Given the description of an element on the screen output the (x, y) to click on. 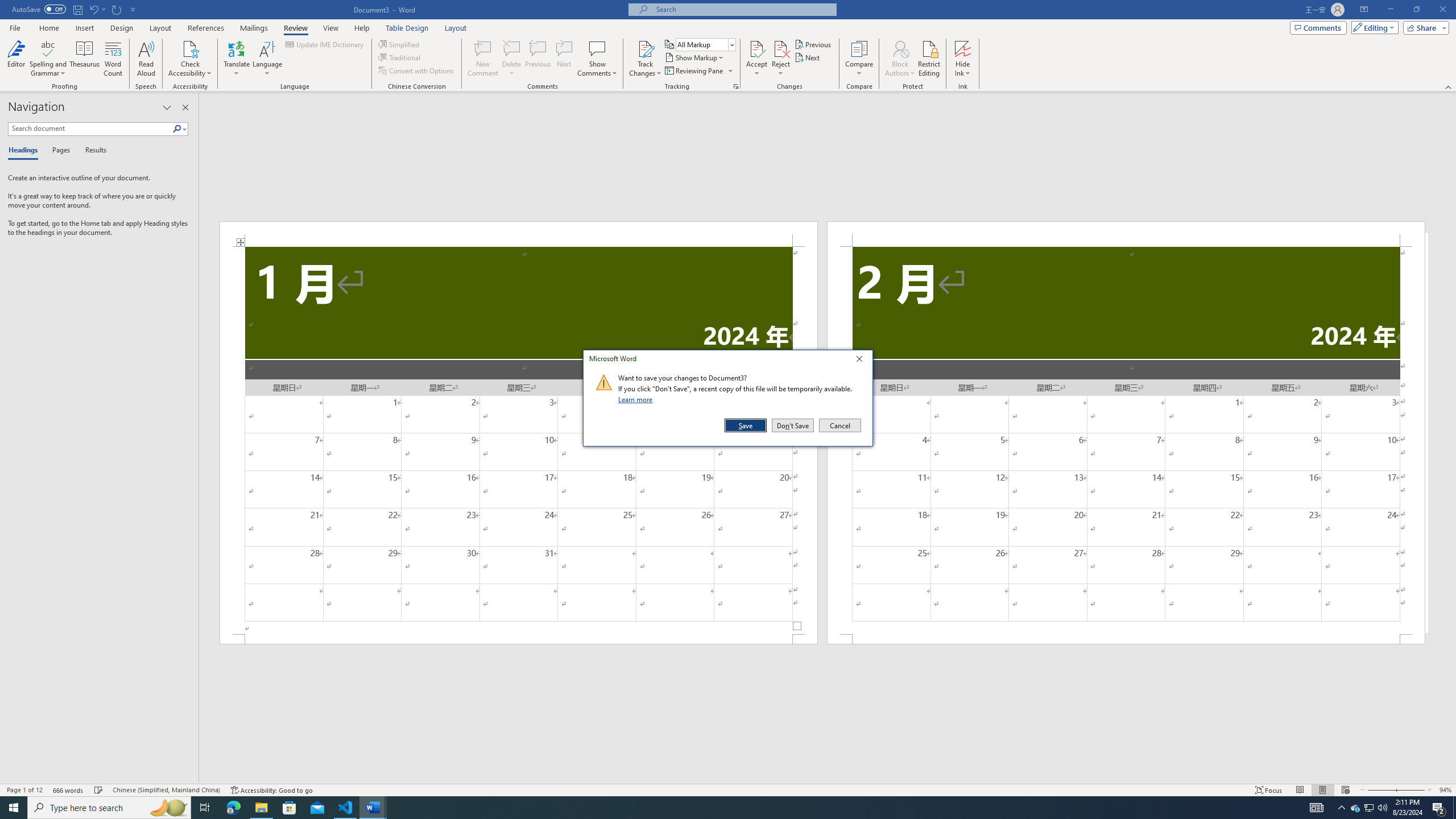
Block Authors (900, 48)
Delete (511, 58)
Translate (236, 58)
Spelling and Grammar (48, 48)
Word Count (113, 58)
Display for Review (705, 44)
Spelling and Grammar (48, 58)
